Given the description of an element on the screen output the (x, y) to click on. 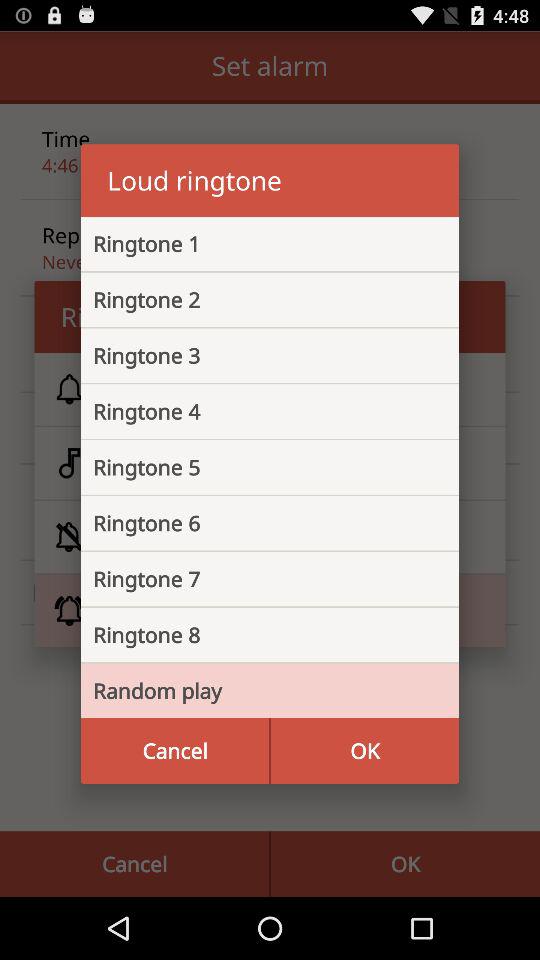
flip until the cancel item (175, 750)
